Given the description of an element on the screen output the (x, y) to click on. 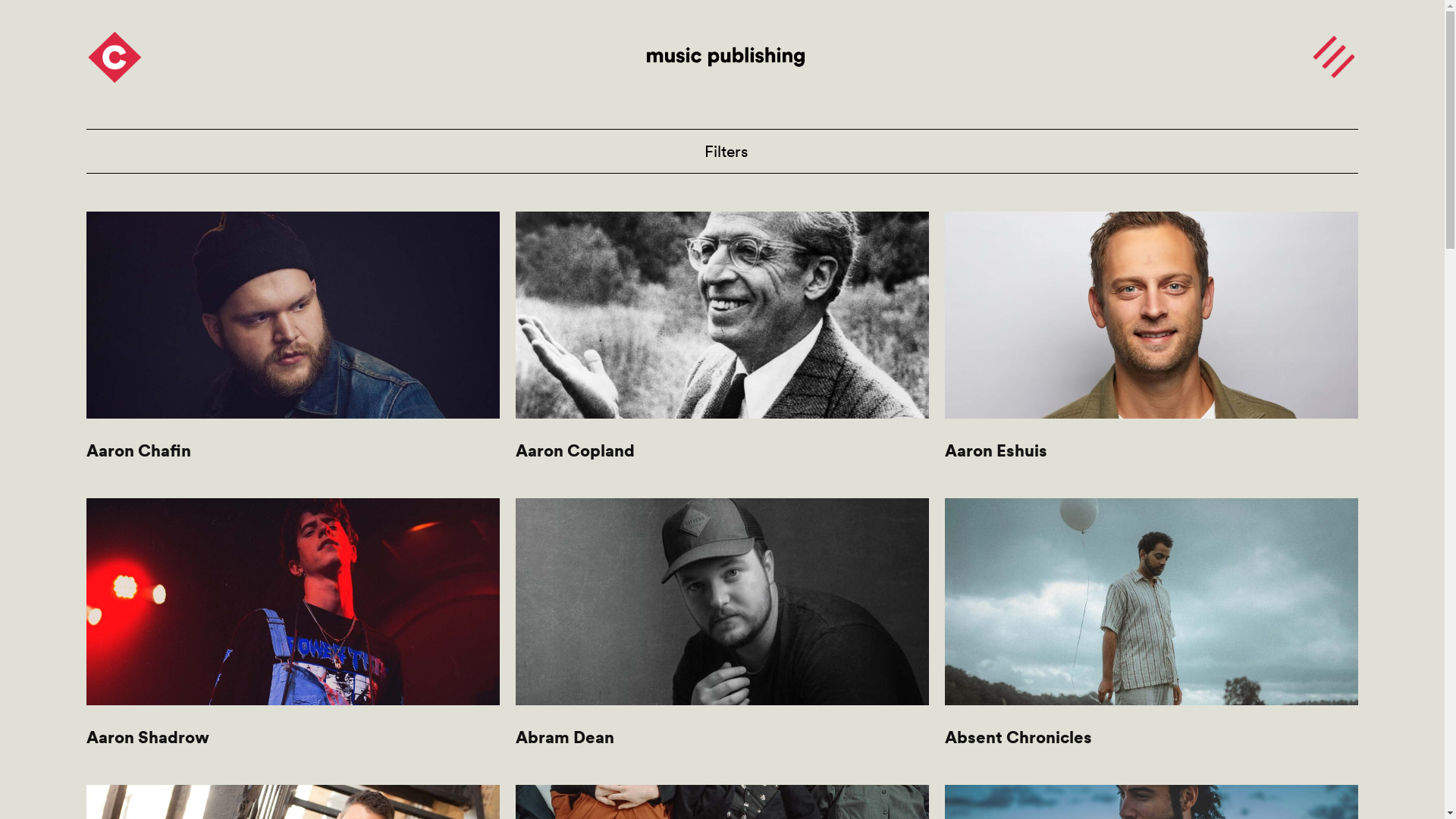
Aaron Copland Element type: text (721, 347)
Filters Element type: text (721, 150)
Site Navigation Element type: hover (1333, 56)
Absent Chronicles Element type: text (1151, 633)
Aaron Shadrow Element type: text (292, 633)
Aaron Eshuis Element type: text (1151, 347)
Aaron Chafin Element type: text (292, 347)
Abram Dean Element type: text (721, 633)
